Given the description of an element on the screen output the (x, y) to click on. 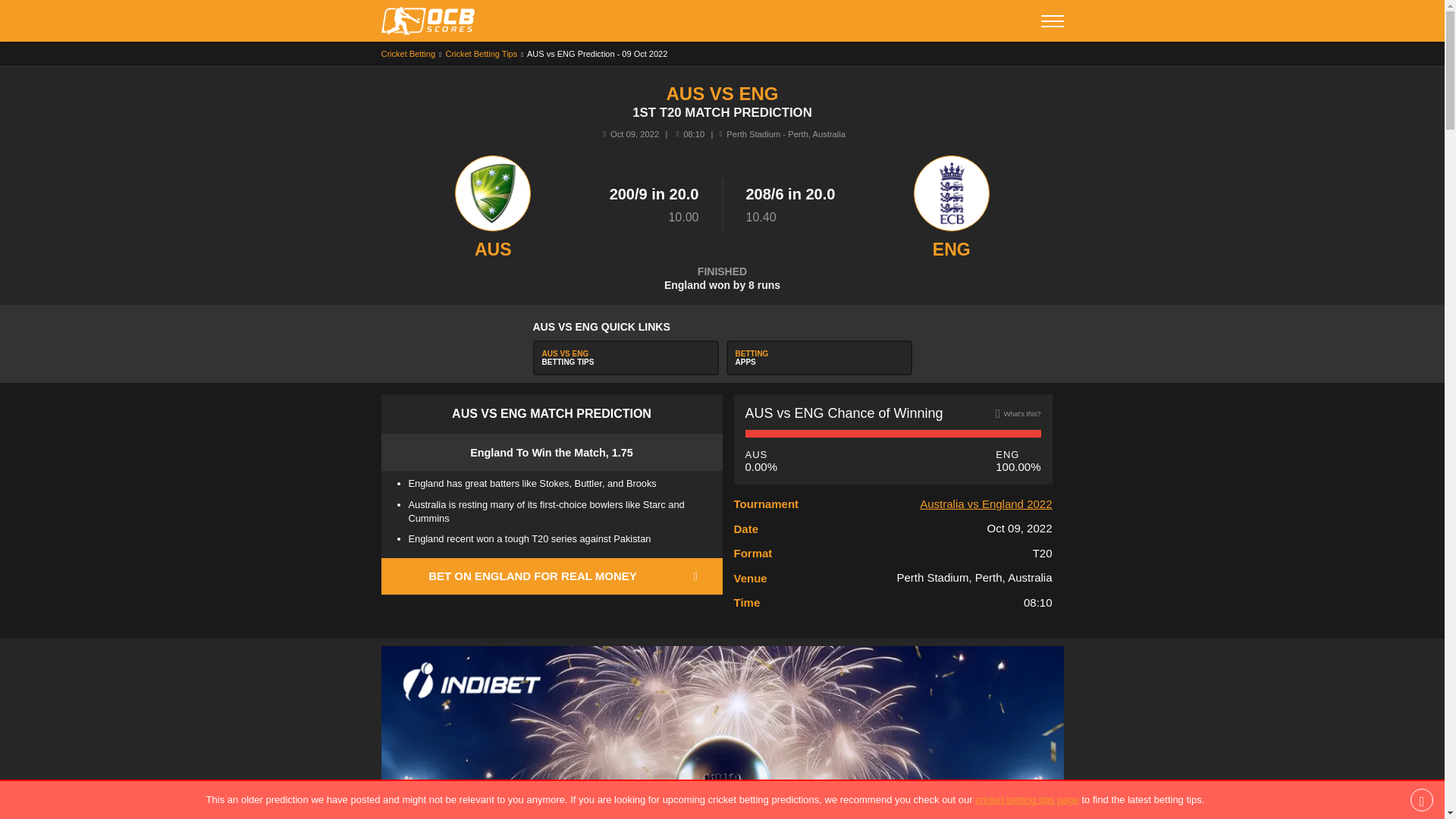
Cricket Betting Tips (624, 357)
Menu (480, 53)
Cricket Betting (819, 357)
cricket betting tips page (1051, 20)
Australia vs England 2022 (407, 53)
BET ON ENGLAND FOR REAL MONEY (1026, 799)
